Given the description of an element on the screen output the (x, y) to click on. 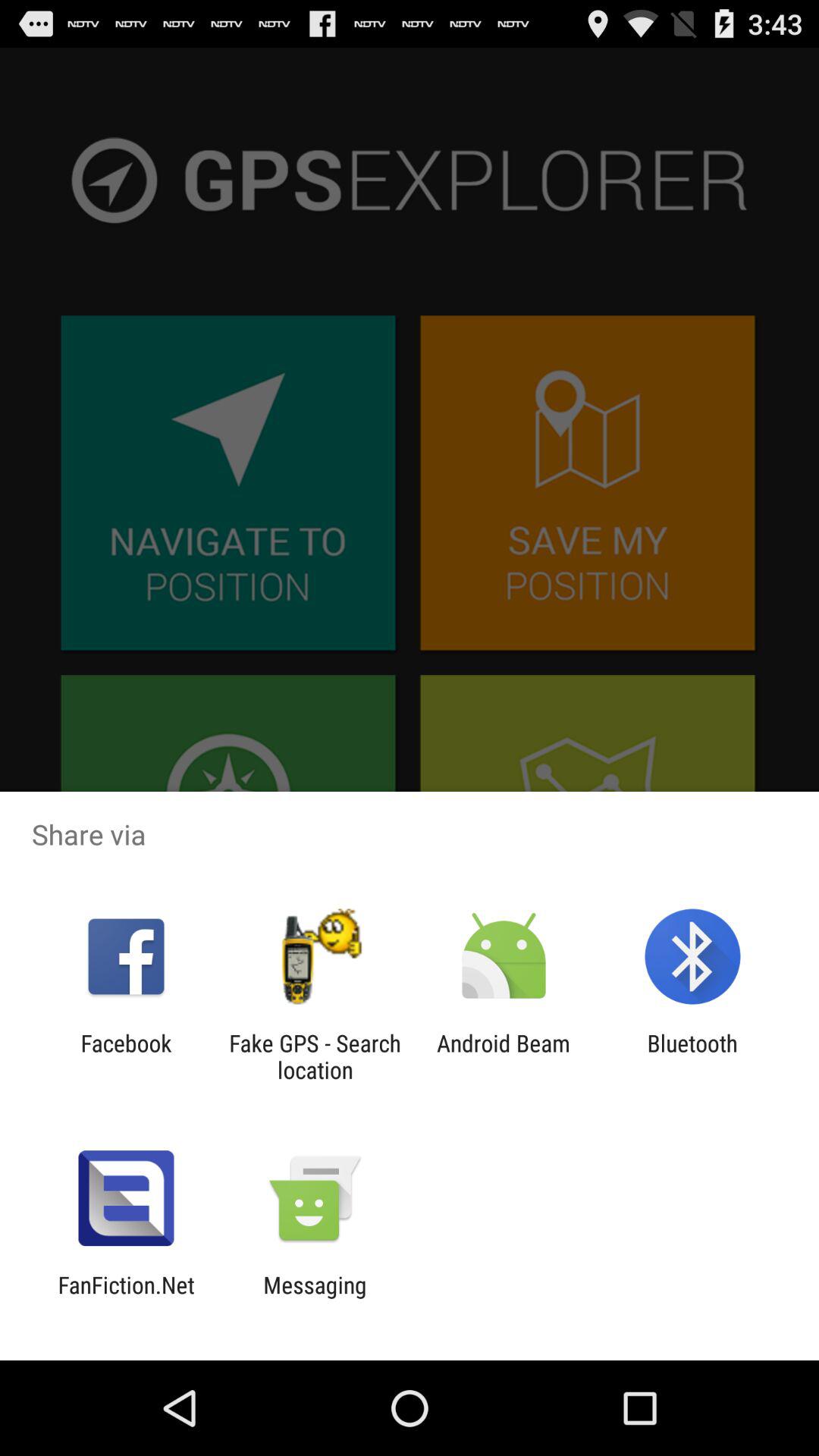
launch the bluetooth icon (692, 1056)
